Given the description of an element on the screen output the (x, y) to click on. 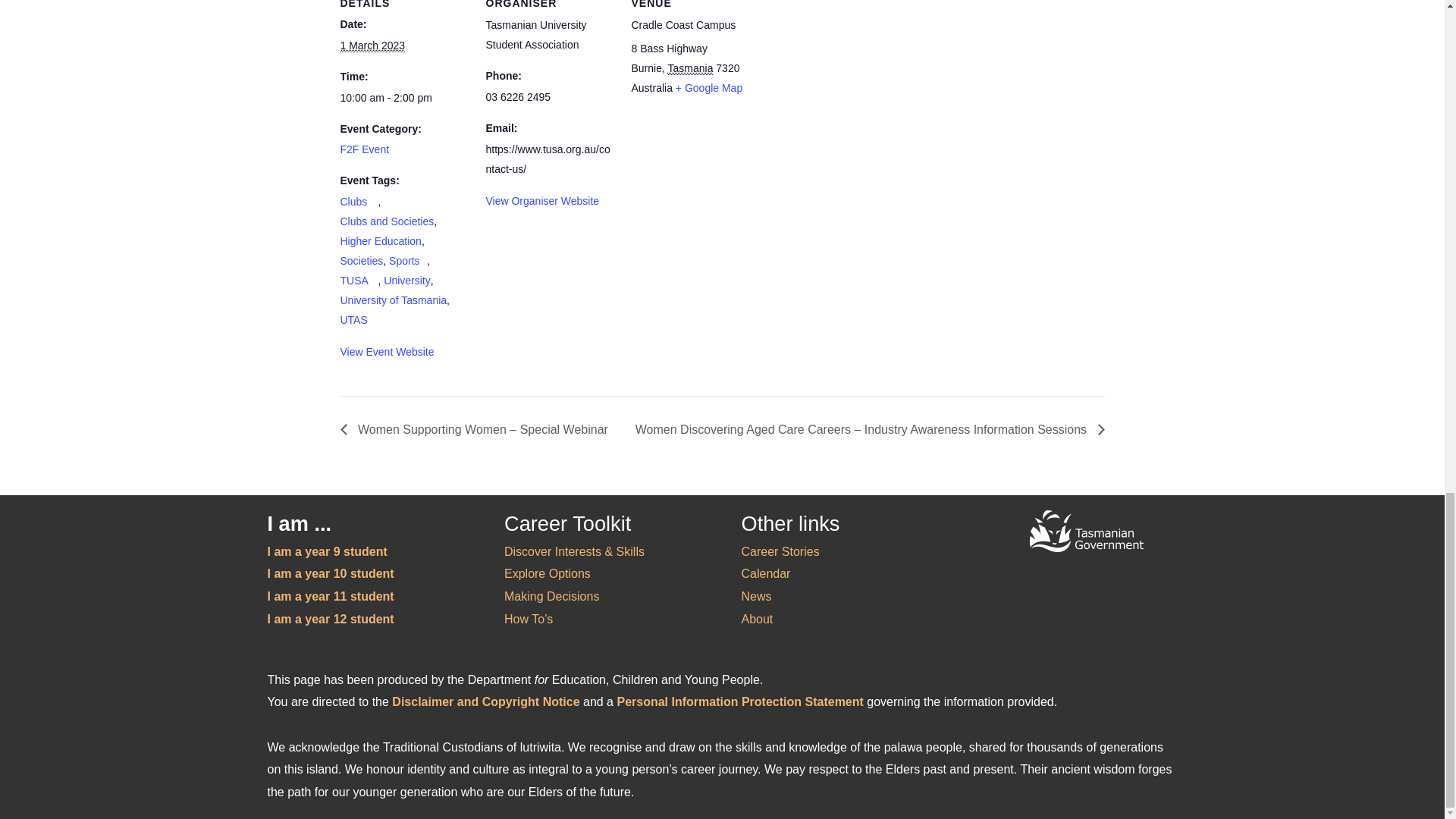
2023-03-01 (371, 45)
Click to view a Google Map (708, 87)
Tasmania (689, 68)
2023-03-01 (403, 98)
